Given the description of an element on the screen output the (x, y) to click on. 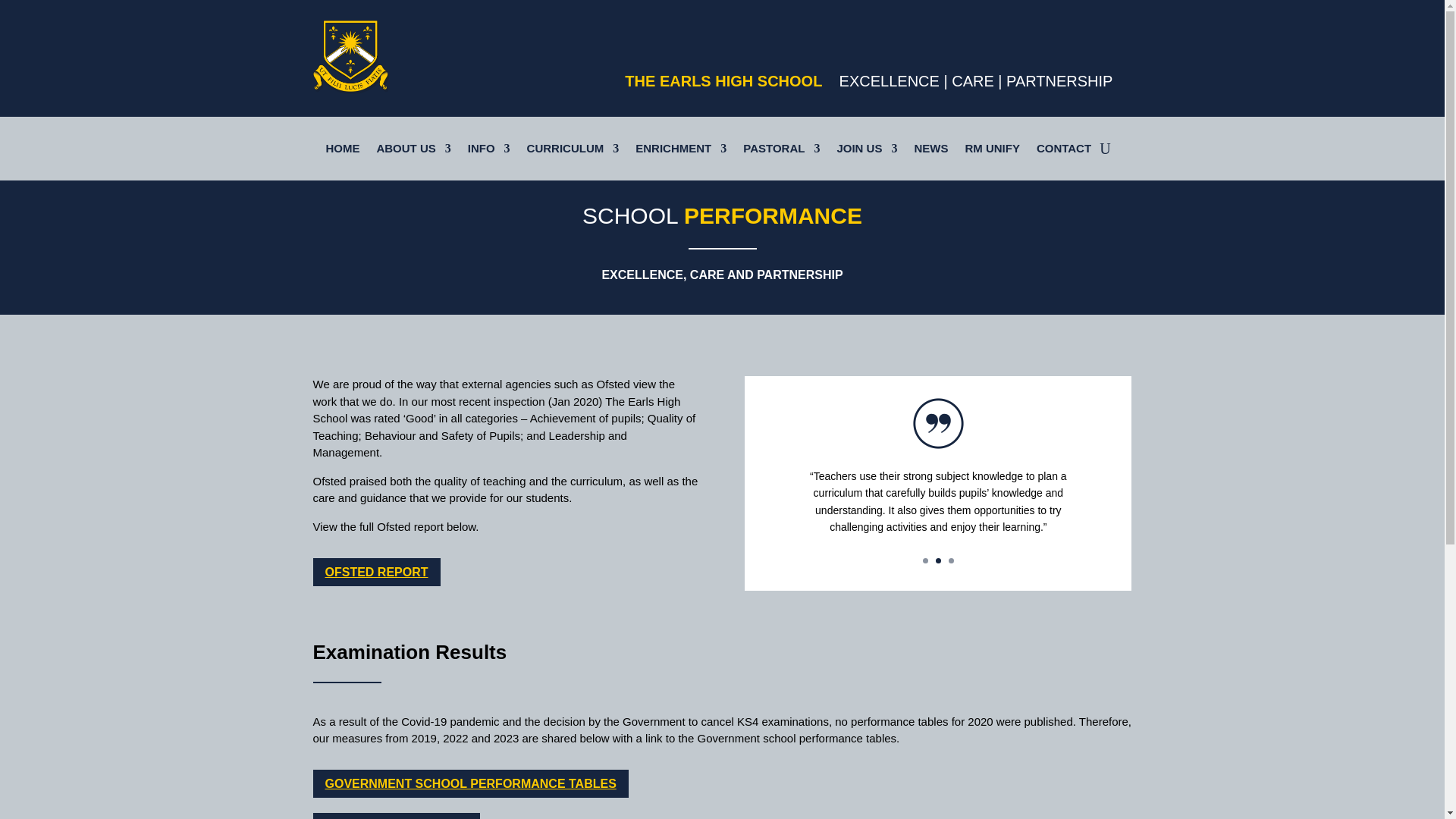
INFO (489, 151)
HOME (341, 151)
PASTORAL (780, 151)
ENRICHMENT (680, 151)
CURRICULUM (573, 151)
ABOUT US (412, 151)
